Given the description of an element on the screen output the (x, y) to click on. 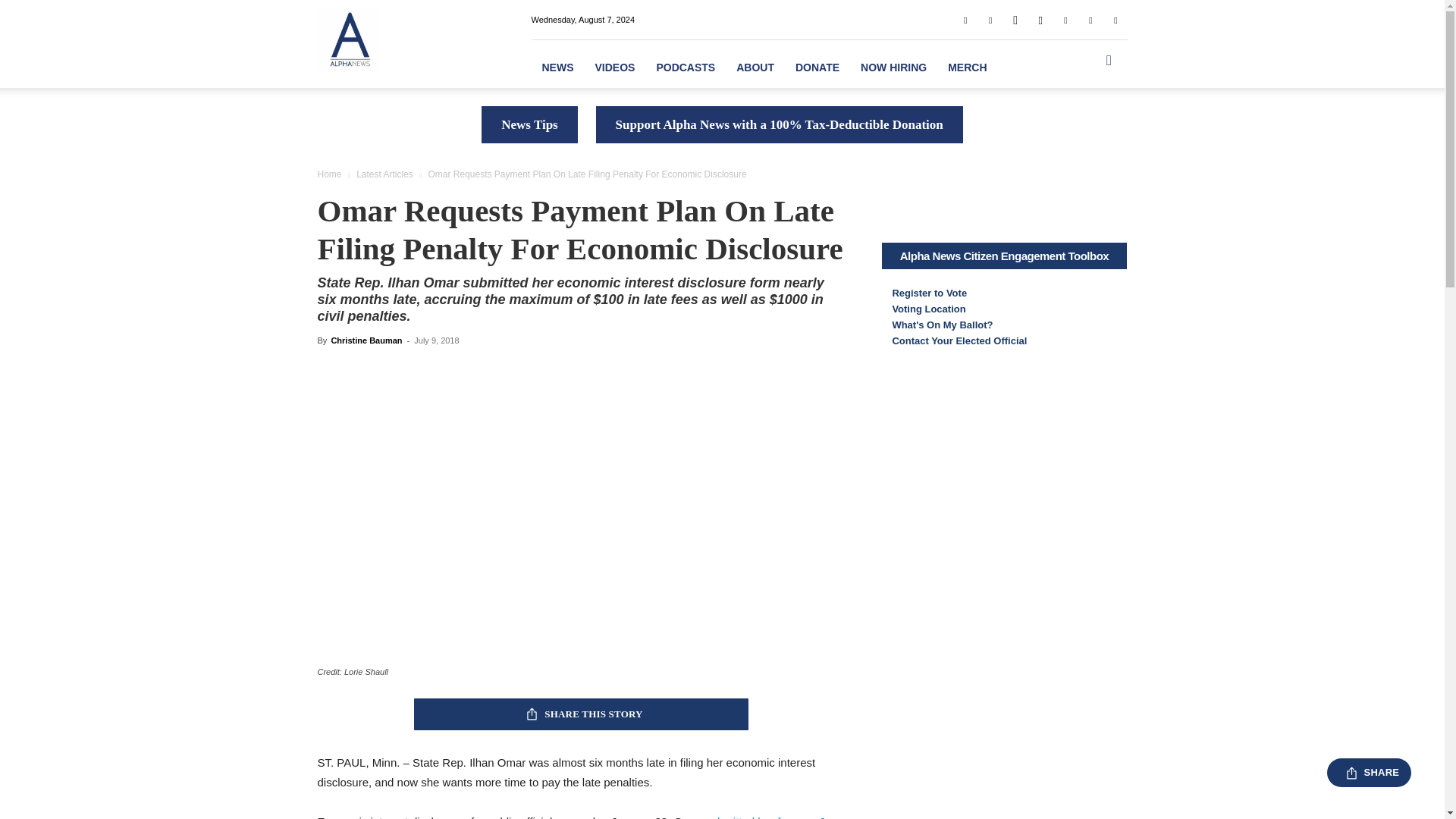
Gab (989, 19)
Instagram (1040, 19)
Telegram (1065, 19)
GETTR (1015, 19)
Facebook (964, 19)
Alpha News (349, 39)
NEWS (557, 67)
Twitter (1090, 19)
Youtube (1114, 19)
